Given the description of an element on the screen output the (x, y) to click on. 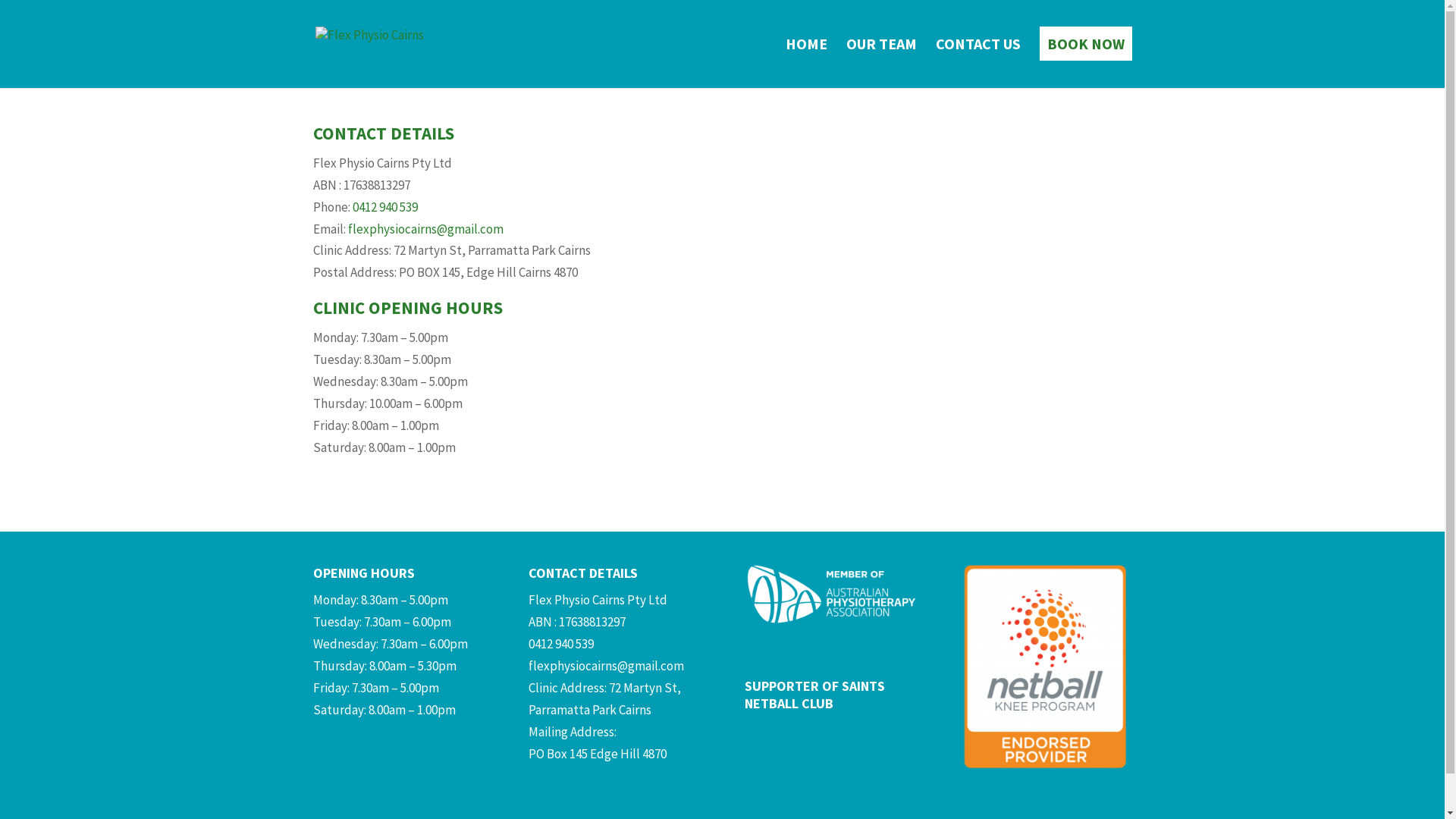
CONTACT US Element type: text (977, 62)
flexphysiocairns@gmail.com Element type: text (424, 228)
OUR TEAM Element type: text (881, 62)
flexphysiocairns@gmail.com Element type: text (606, 665)
BOOK NOW Element type: text (1084, 62)
HOME Element type: text (806, 62)
0412 940 539 Element type: text (384, 206)
0412 940 539 Element type: text (560, 643)
